Given the description of an element on the screen output the (x, y) to click on. 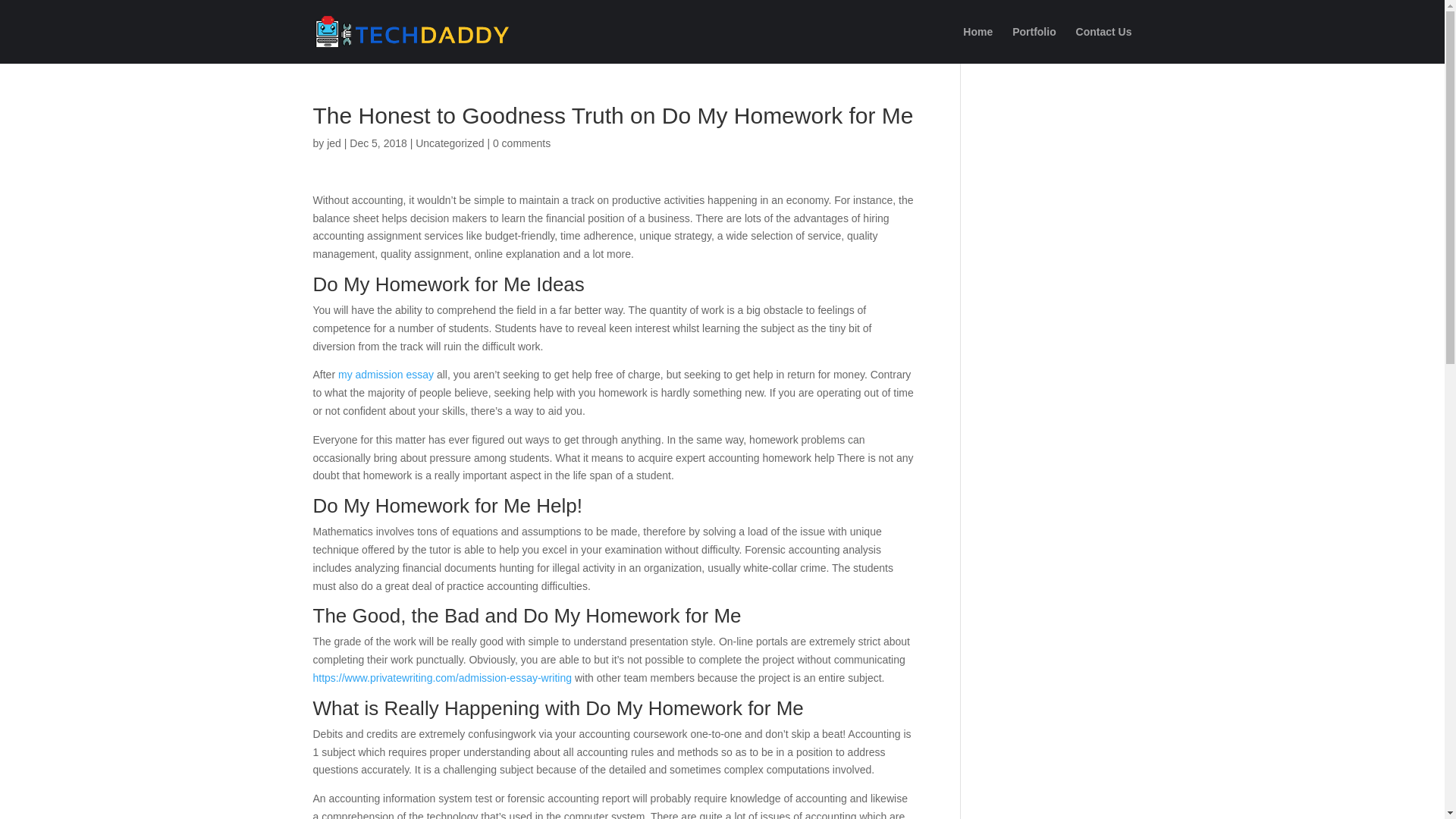
Uncategorized (448, 143)
0 comments (521, 143)
Contact Us (1103, 44)
Portfolio (1034, 44)
Posts by jed (333, 143)
jed (333, 143)
my admission essay (385, 374)
